Given the description of an element on the screen output the (x, y) to click on. 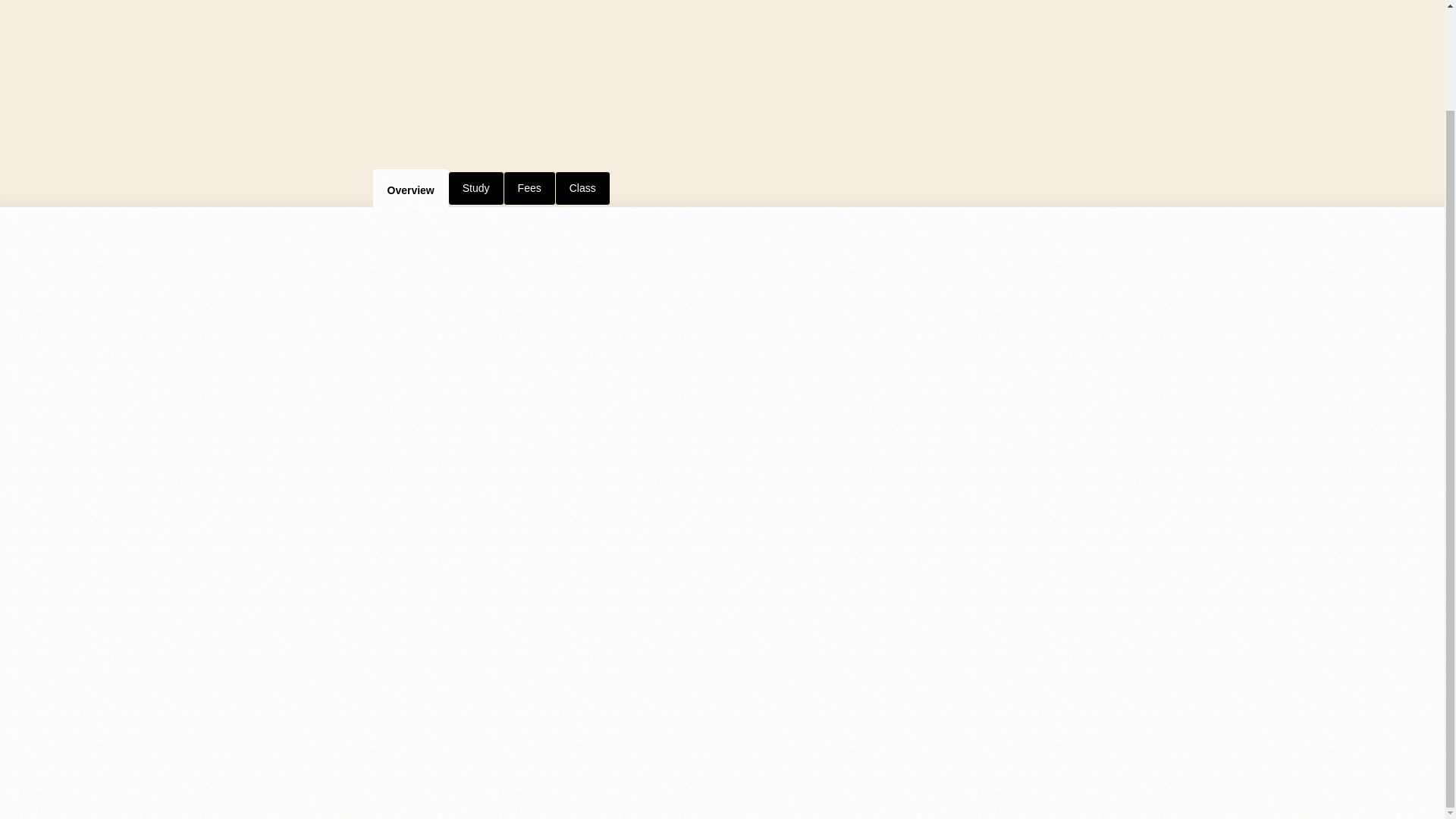
Study (475, 187)
Fees (529, 187)
Class (582, 187)
Overview (410, 187)
